Given the description of an element on the screen output the (x, y) to click on. 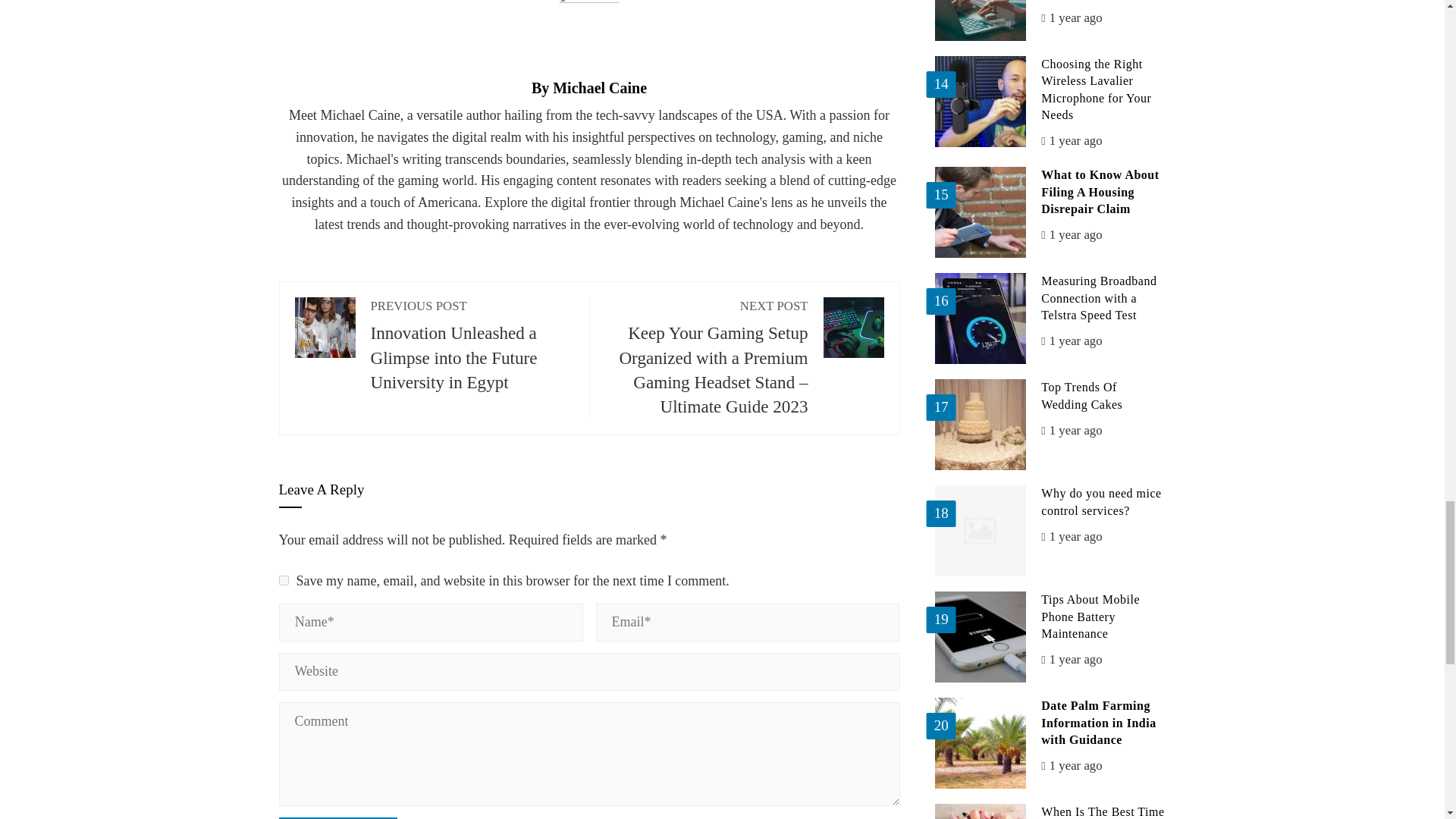
Post Comment (338, 818)
yes (283, 580)
